Given the description of an element on the screen output the (x, y) to click on. 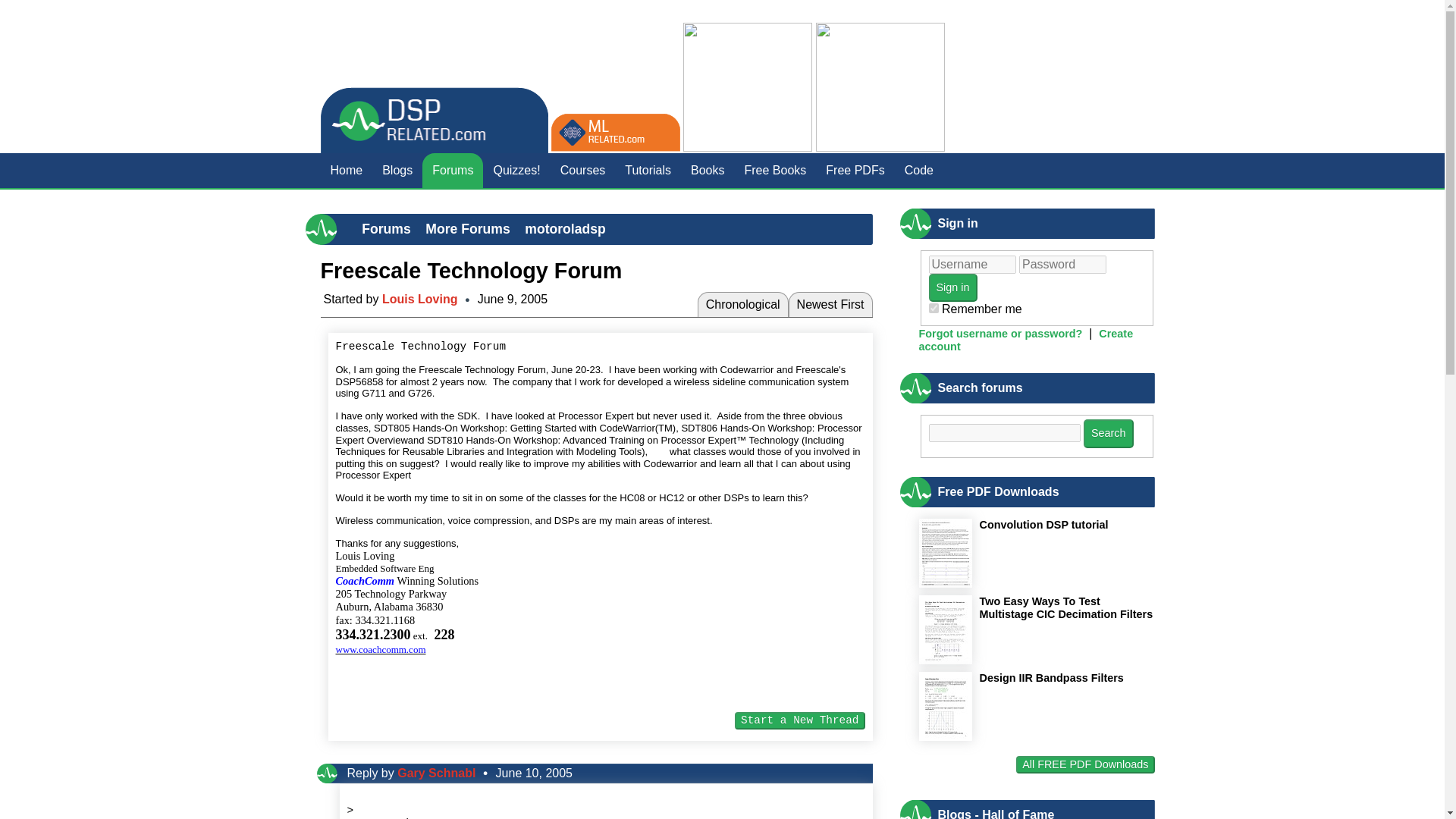
checked (932, 307)
DSP Courses (582, 170)
DSP Quizzes! (516, 170)
Books (707, 170)
Forums (385, 228)
Tutorials (647, 170)
DSP Books (707, 170)
Free Books (775, 170)
Free PDFs (854, 170)
motoroladsp (564, 228)
Code (919, 170)
DSP Forums and Discussions (452, 170)
Home (346, 170)
Free DSP Books (775, 170)
DSP Tutorials (647, 170)
